Given the description of an element on the screen output the (x, y) to click on. 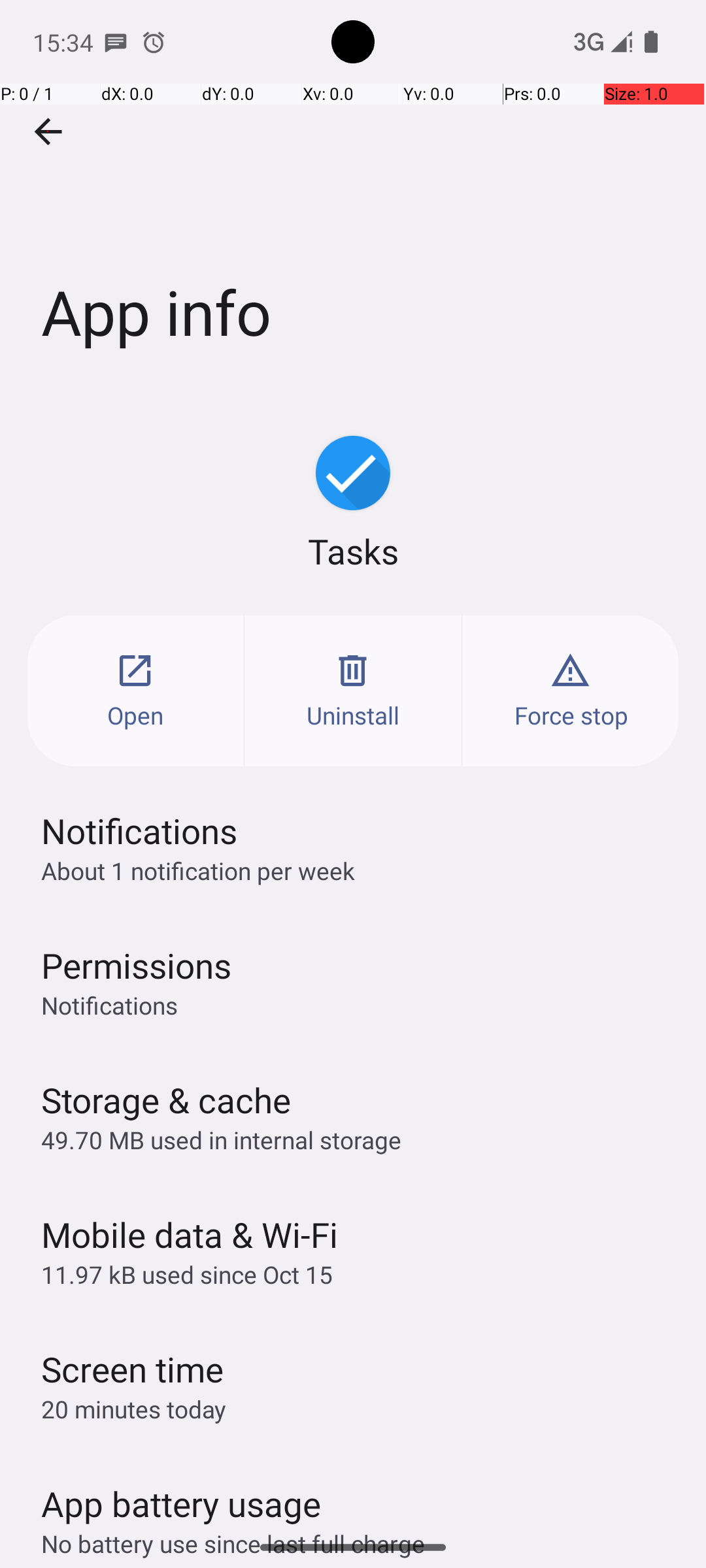
About 1 notification per week Element type: android.widget.TextView (197, 870)
49.70 MB used in internal storage Element type: android.widget.TextView (221, 1139)
11.97 kB used since Oct 15 Element type: android.widget.TextView (186, 1273)
20 minutes today Element type: android.widget.TextView (133, 1408)
